Given the description of an element on the screen output the (x, y) to click on. 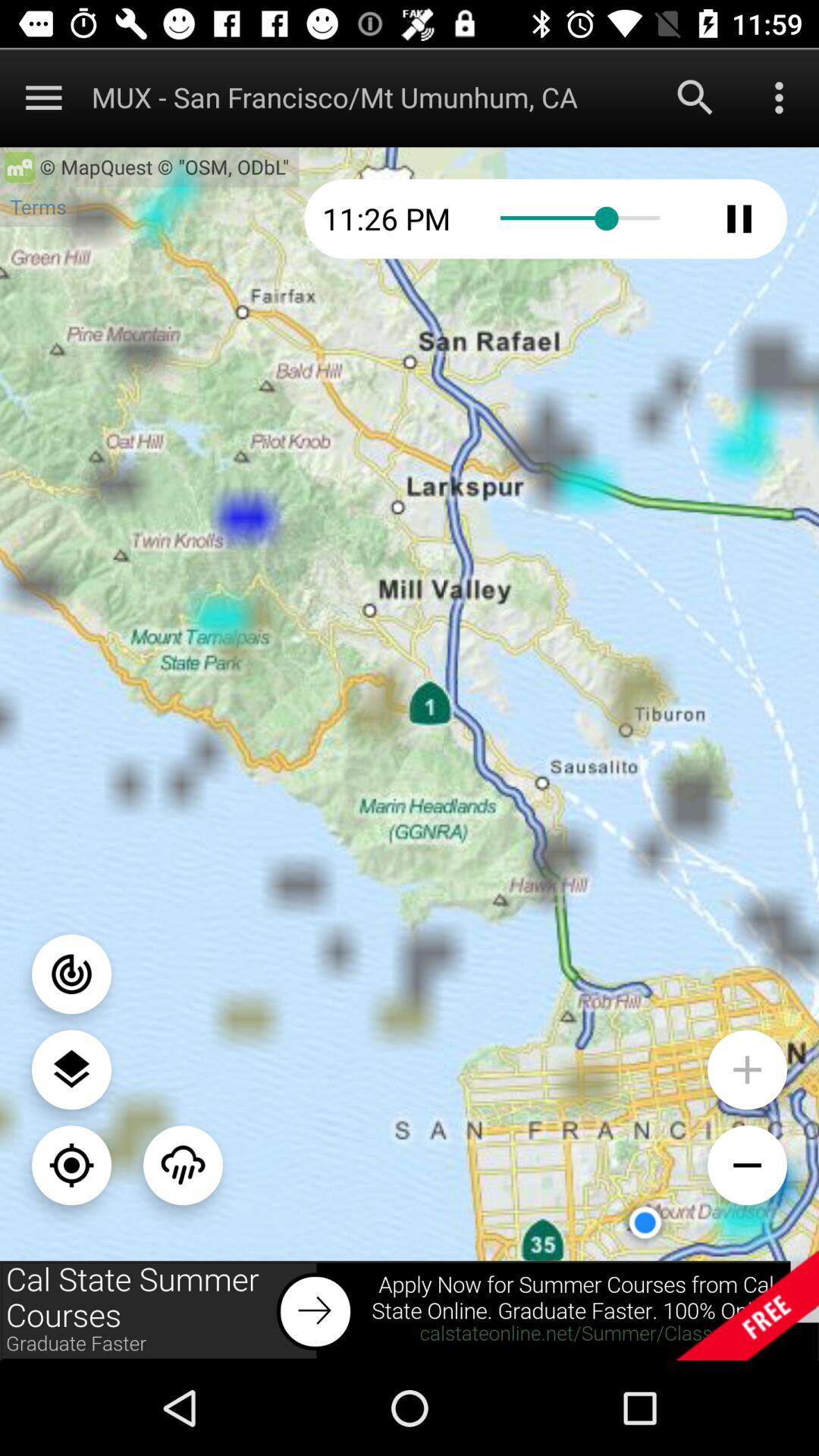
google button (695, 97)
